Given the description of an element on the screen output the (x, y) to click on. 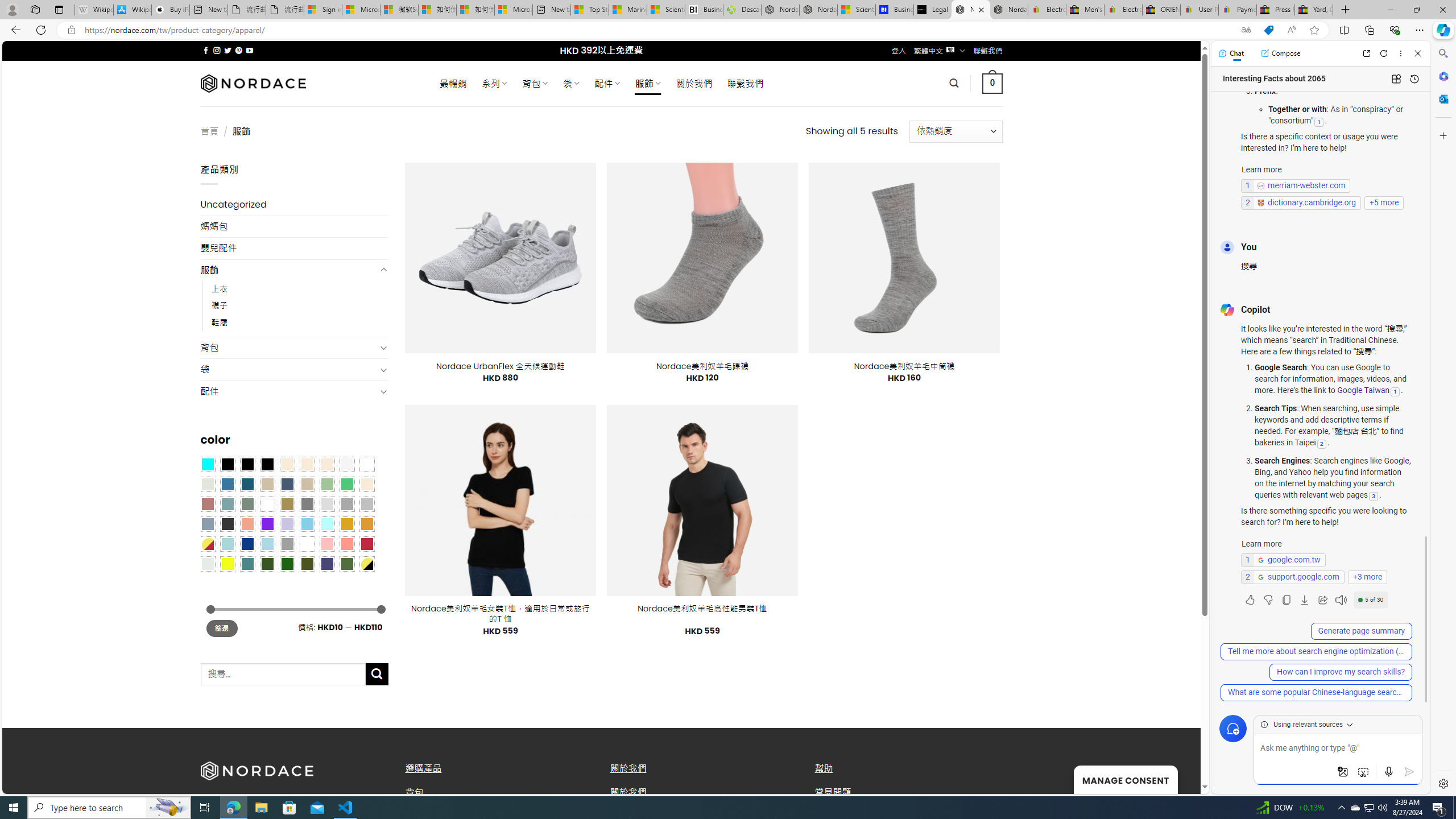
Follow on Twitter (227, 50)
